Given the description of an element on the screen output the (x, y) to click on. 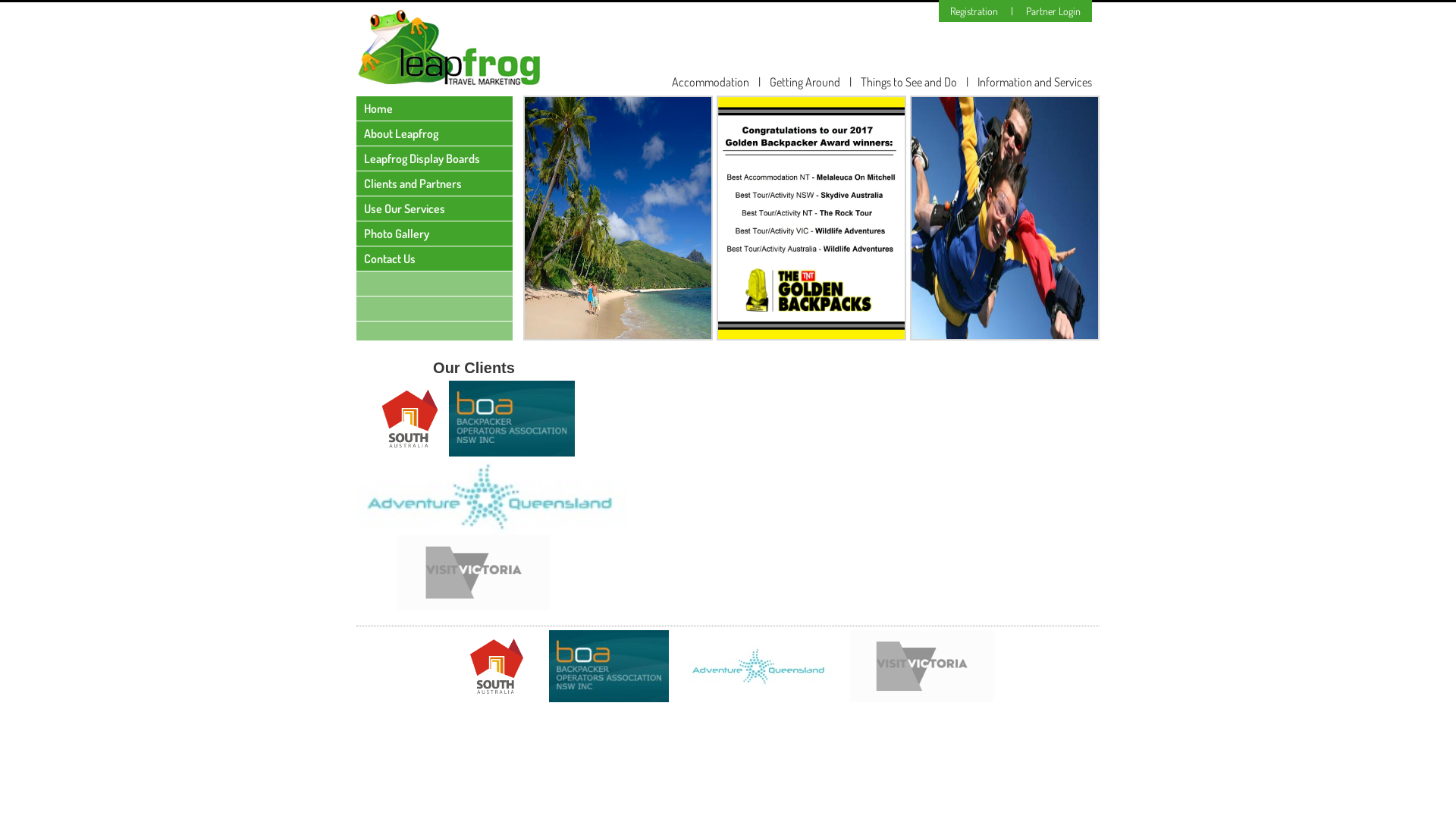
Clients and Partners Element type: text (434, 183)
About Leapfrog Element type: text (434, 133)
  Element type: text (434, 308)
Things to See and Do Element type: text (908, 81)
Partner Login Element type: text (1053, 10)
Photo Gallery Element type: text (434, 233)
Getting Around Element type: text (804, 81)
Use Our Services Element type: text (434, 208)
  Element type: text (434, 333)
Home Element type: text (434, 108)
> Element type: text (1127, 300)
  Element type: text (434, 283)
Leapfrog Display Boards Element type: text (434, 158)
Information and Services Element type: text (1034, 81)
Contact Us Element type: text (434, 258)
< Element type: text (494, 300)
Registration Element type: text (973, 10)
Accommodation Element type: text (710, 81)
